Given the description of an element on the screen output the (x, y) to click on. 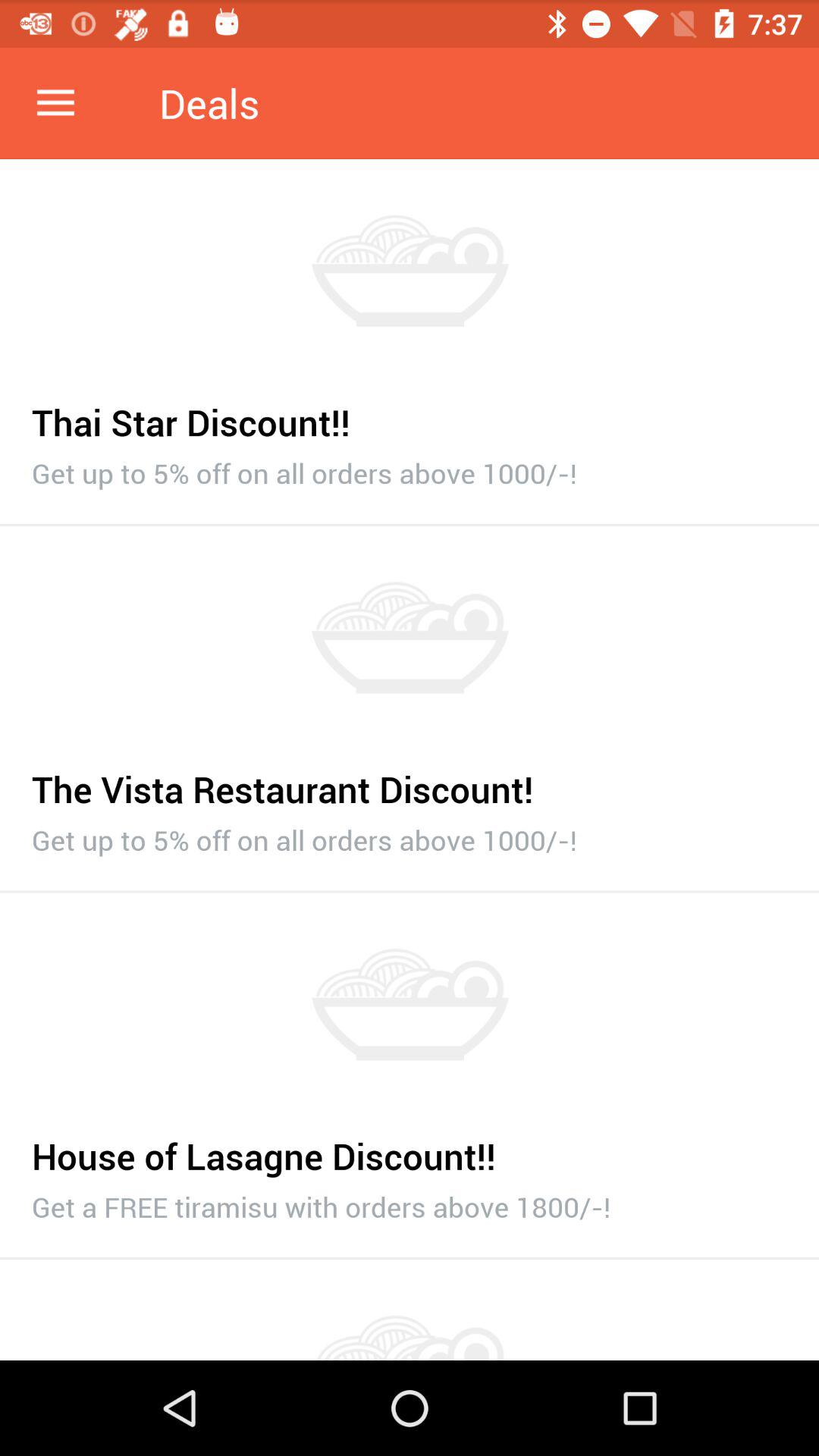
scroll until the thai star discount!! item (409, 414)
